Given the description of an element on the screen output the (x, y) to click on. 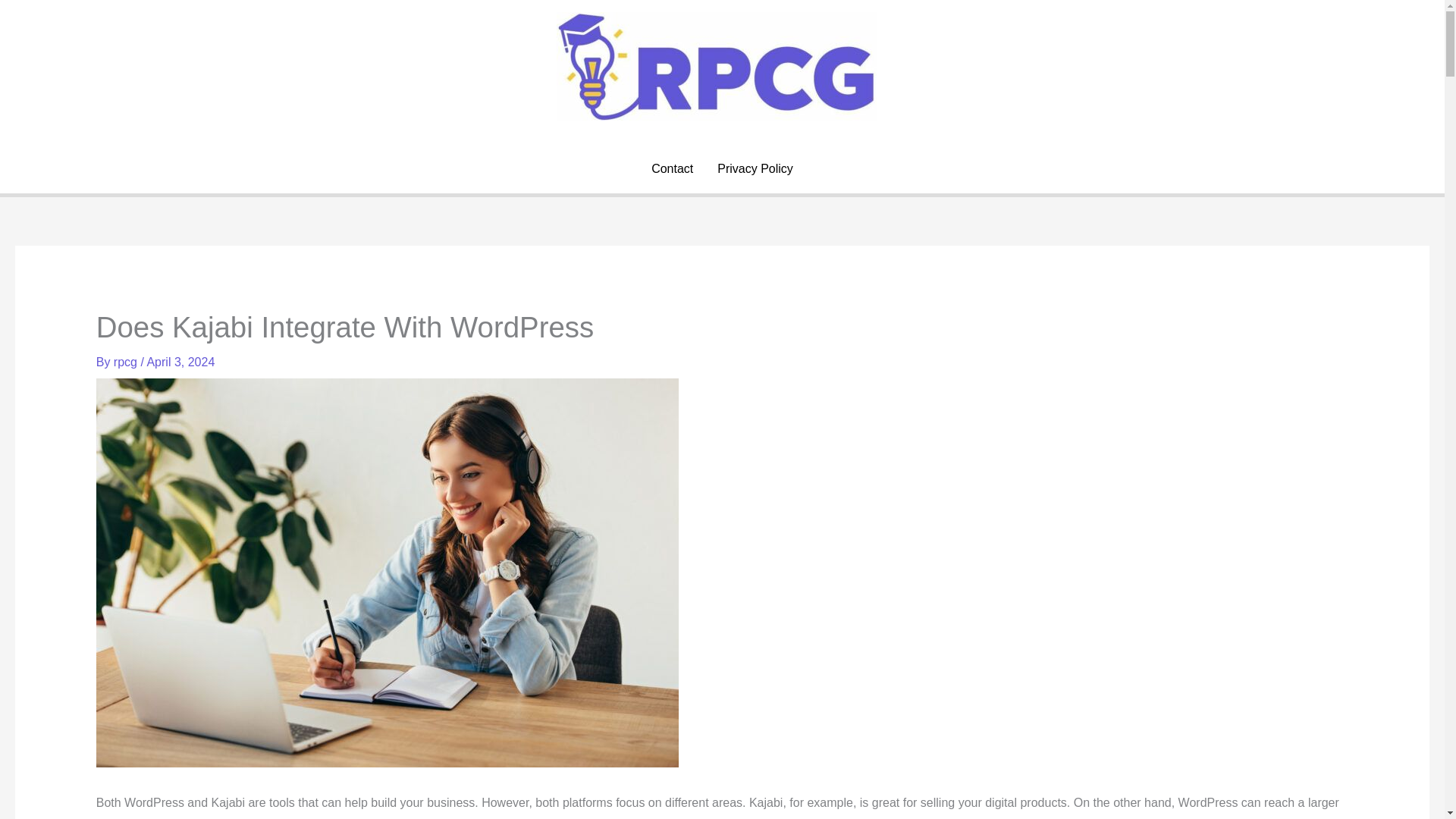
Contact (671, 168)
rpcg (127, 361)
Privacy Policy (754, 168)
View all posts by rpcg (127, 361)
